Given the description of an element on the screen output the (x, y) to click on. 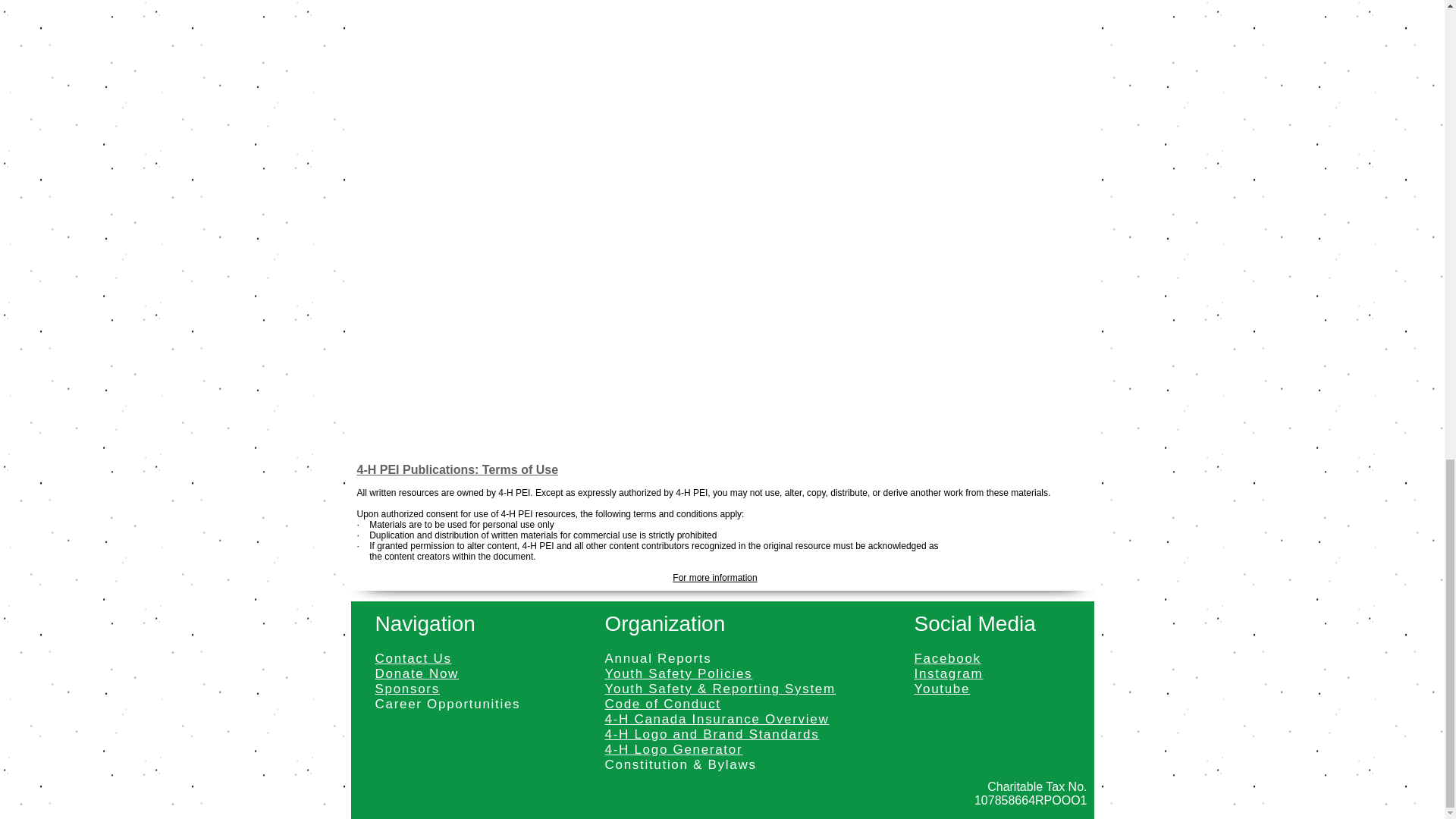
Annual Reports (658, 658)
For more information (714, 577)
4-H Canada Insurance Overview (717, 718)
Contact Us (412, 658)
4-H Logo Generator (673, 749)
Instagram (949, 673)
Sponsors (406, 688)
Donate Now (416, 673)
Code of Conduct (662, 703)
4-H Logo and Brand Standards (712, 734)
